Given the description of an element on the screen output the (x, y) to click on. 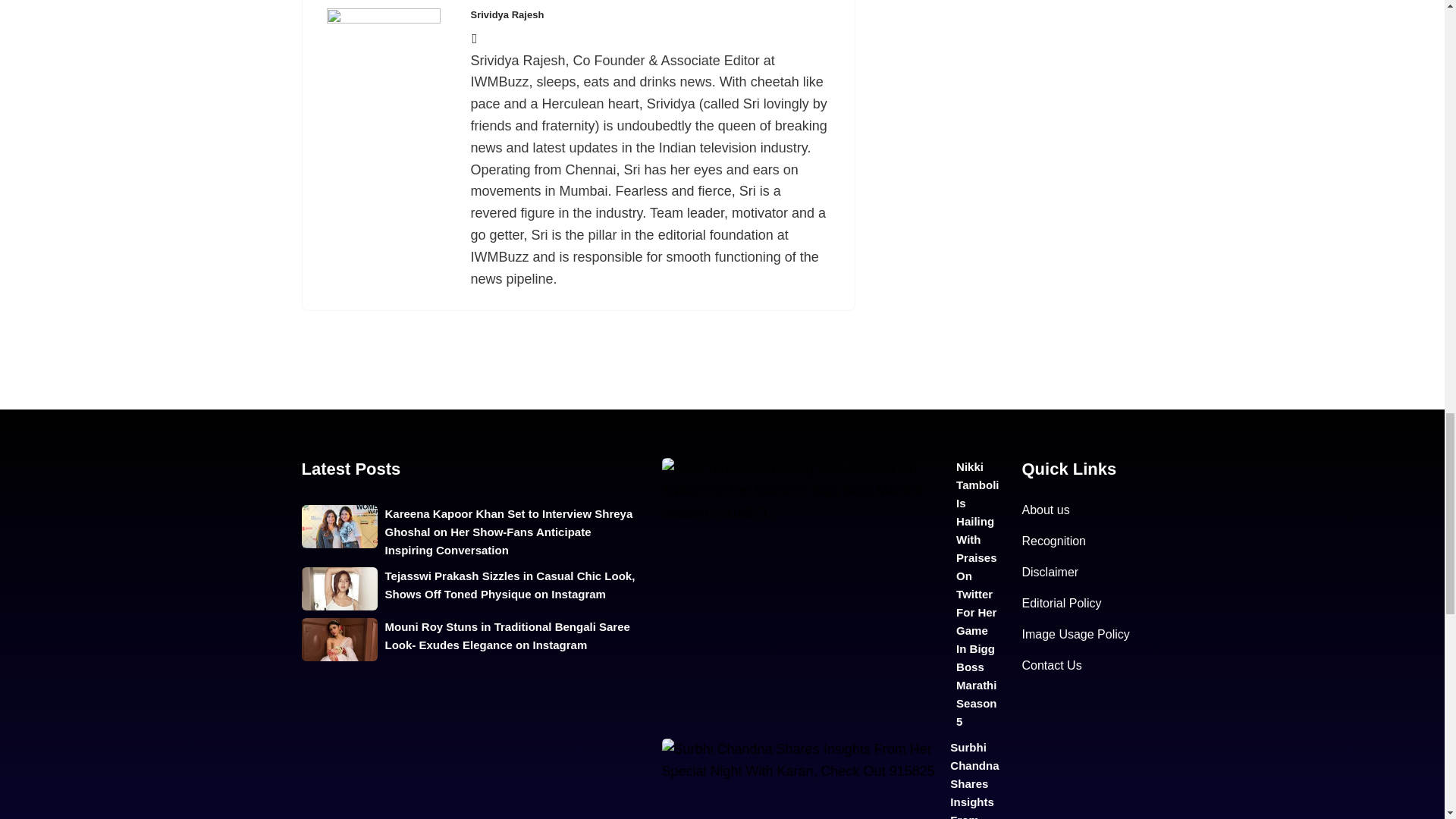
Recognition (1054, 540)
About us (1046, 509)
Image Usage Policy (1075, 634)
Disclaimer (1050, 571)
Editorial Policy (1062, 603)
